Given the description of an element on the screen output the (x, y) to click on. 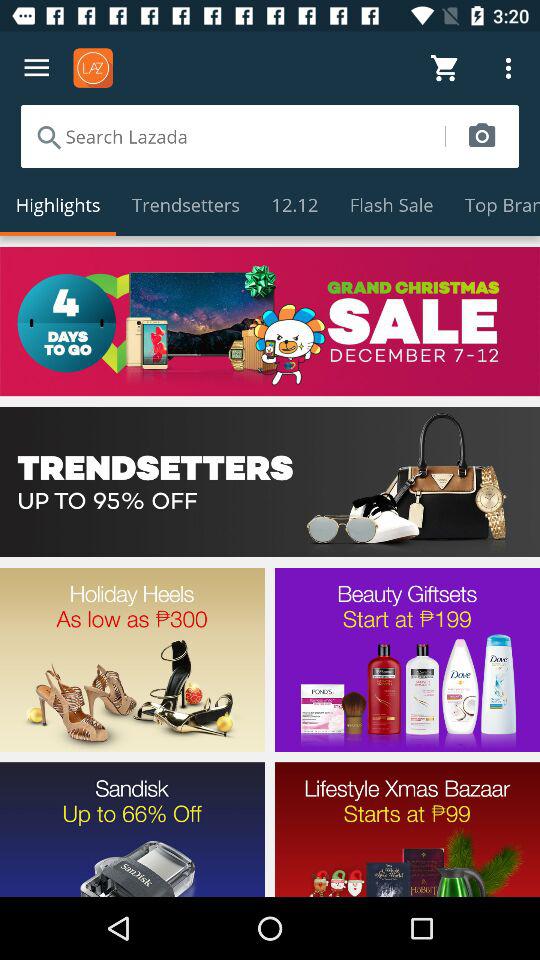
christmas sale banner (270, 321)
